Given the description of an element on the screen output the (x, y) to click on. 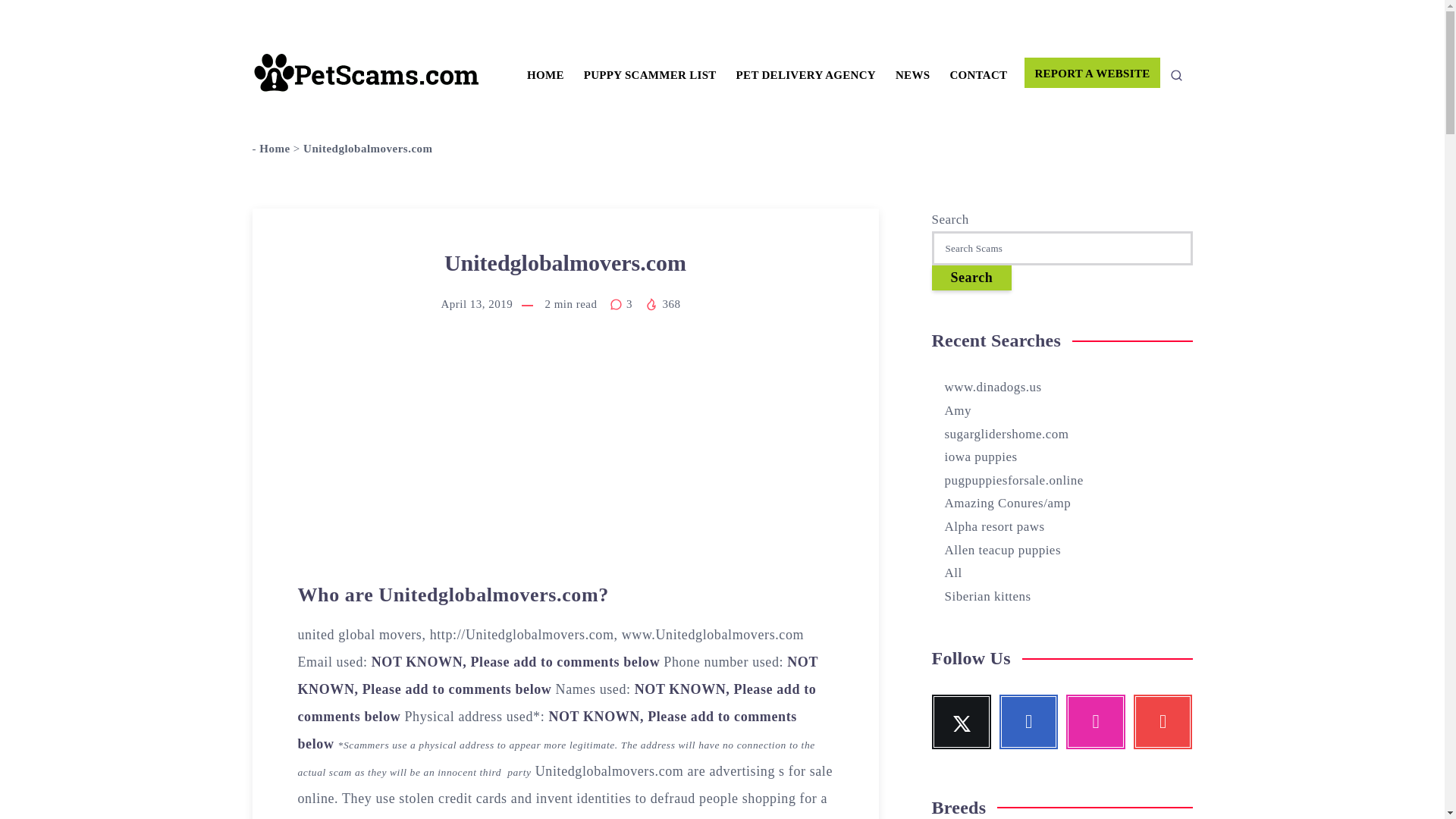
3 (623, 304)
Home (274, 148)
HOME (545, 74)
Advertisement (564, 454)
PET DELIVERY AGENCY (806, 74)
3 Comments (623, 304)
CONTACT (978, 74)
368 Views (662, 304)
NEWS (912, 74)
PUPPY SCAMMER LIST (649, 74)
